Given the description of an element on the screen output the (x, y) to click on. 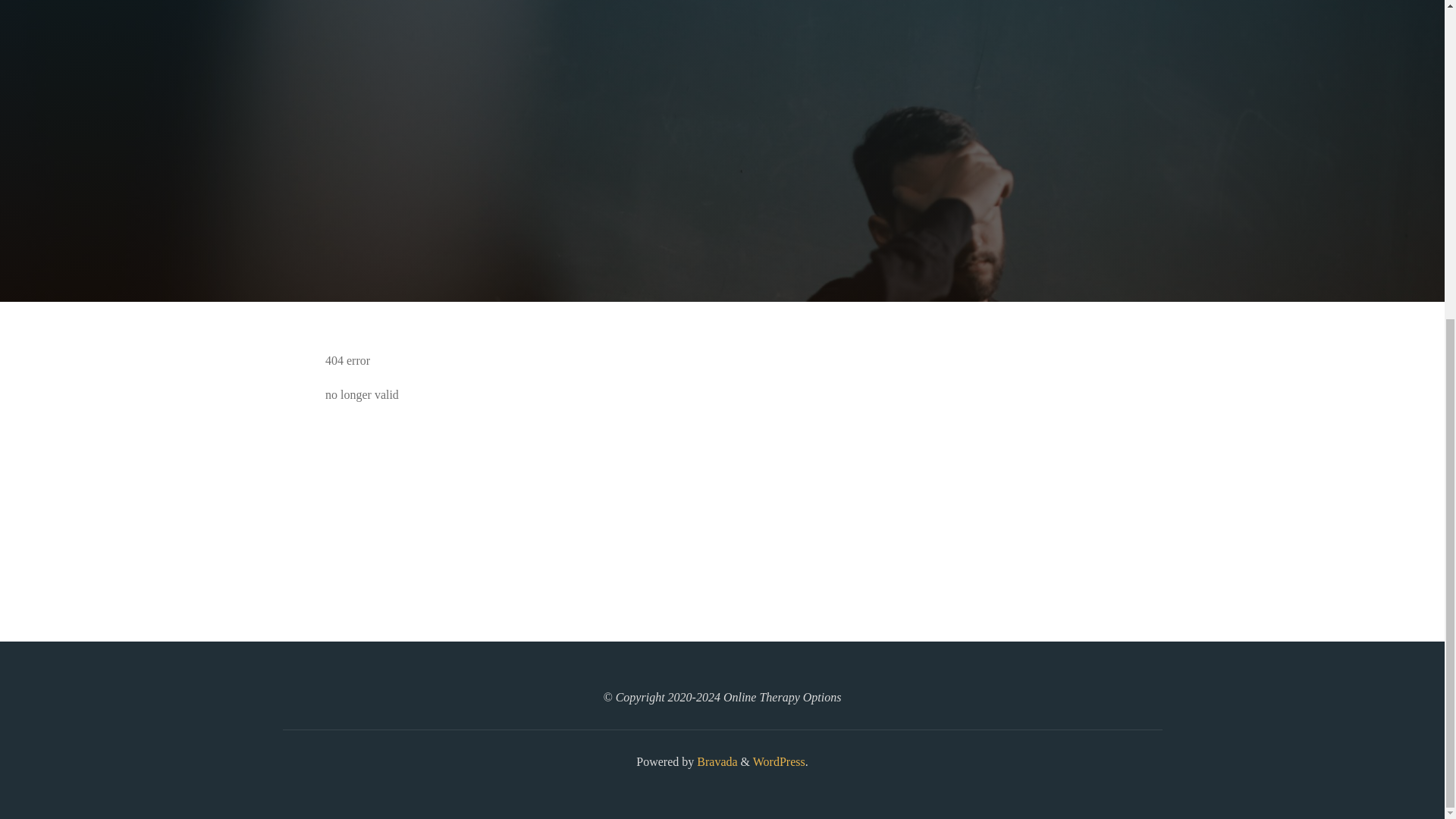
WordPress (778, 761)
Bravada (715, 761)
Bravada WordPress Theme by Cryout Creations (715, 761)
Semantic Personal Publishing Platform (778, 761)
Read more (721, 207)
